Given the description of an element on the screen output the (x, y) to click on. 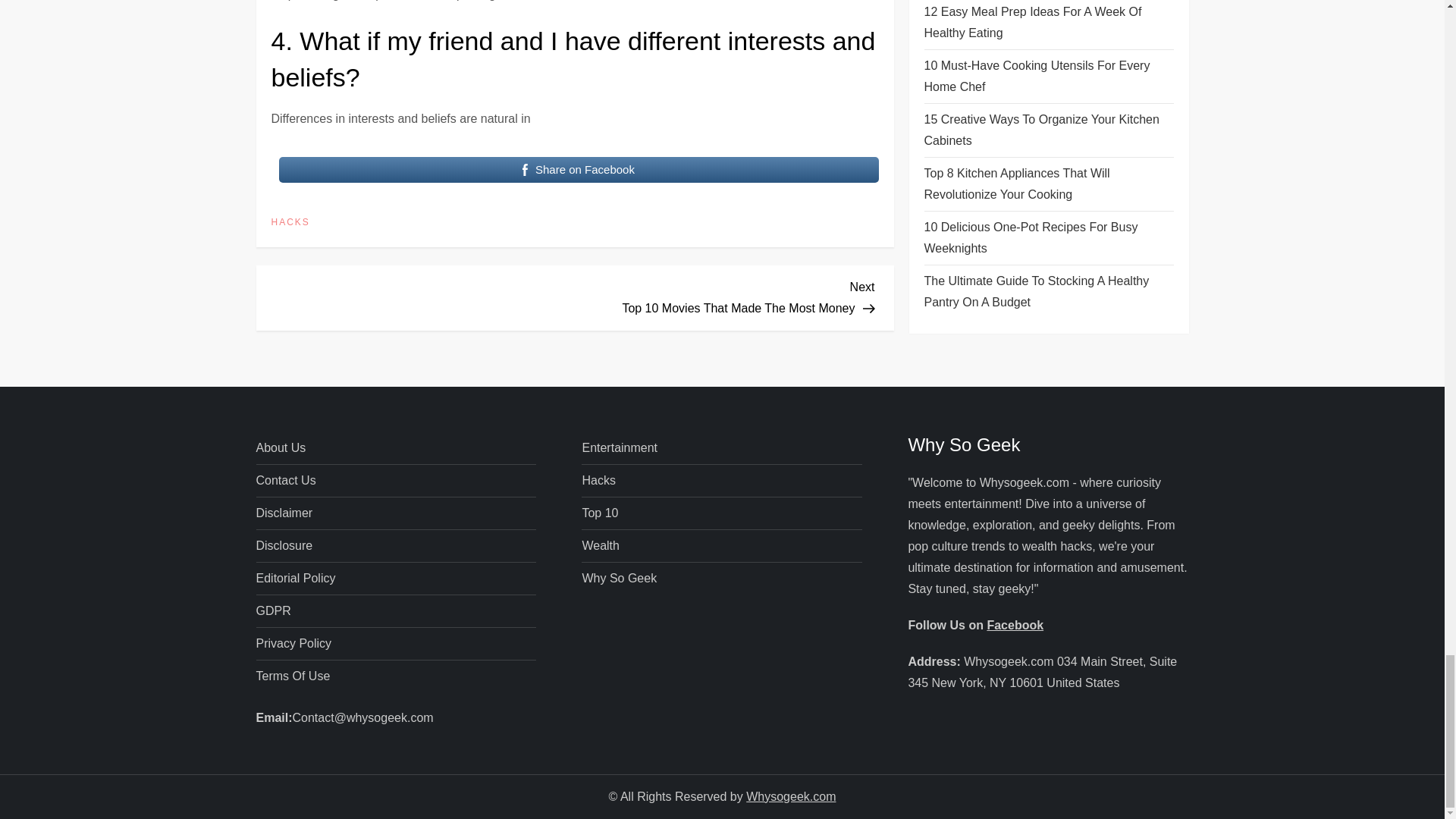
HACKS (290, 223)
Contact Us (285, 480)
Disclaimer (284, 513)
Share on Facebook (579, 169)
Disclosure (284, 545)
About Us (725, 295)
Editorial Policy (280, 447)
